Given the description of an element on the screen output the (x, y) to click on. 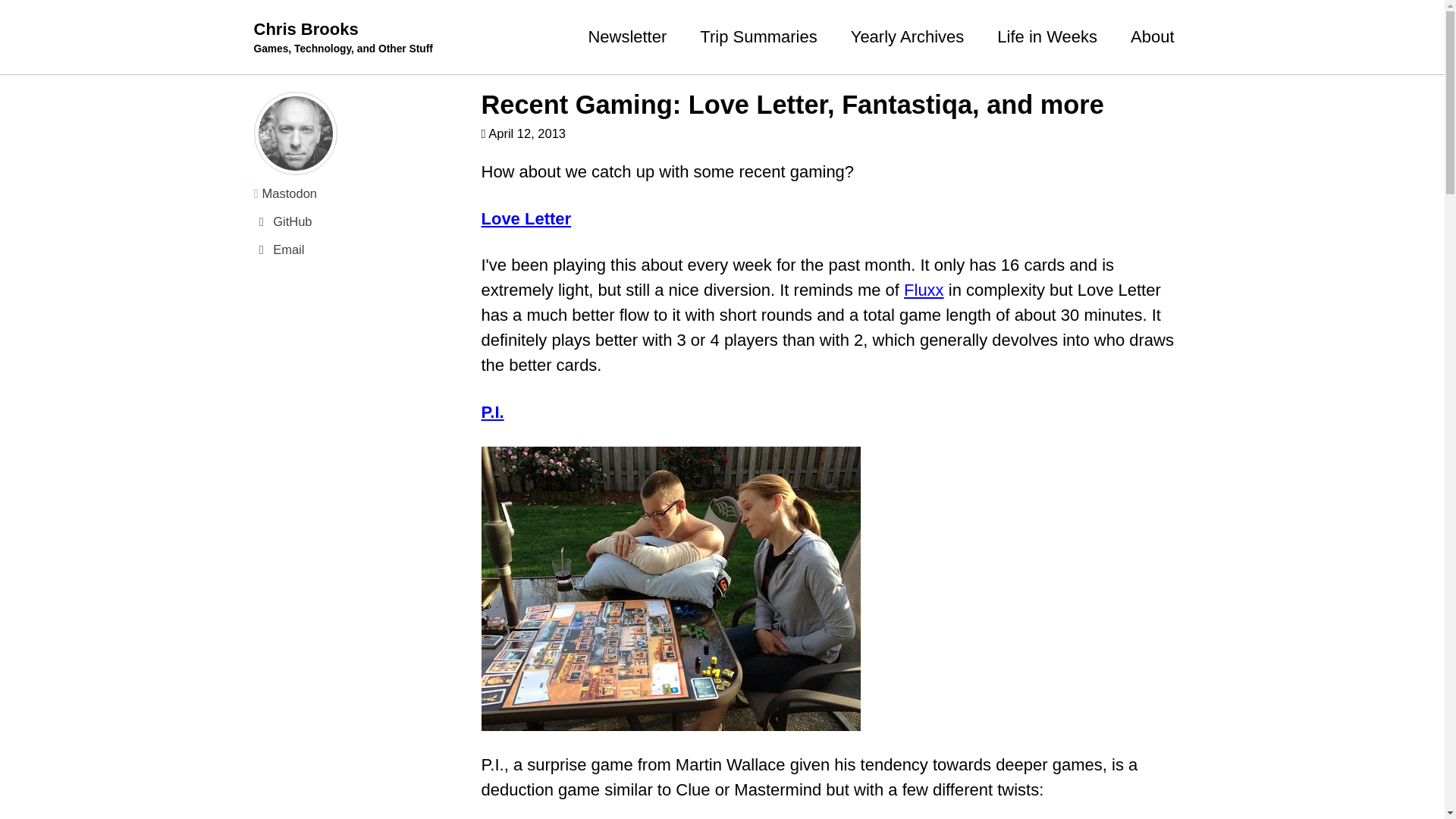
Trip Summaries (758, 36)
Love Letter (525, 218)
Newsletter (627, 36)
Mastodon (358, 193)
P.I. (491, 411)
About (1152, 36)
Fluxx (923, 289)
Email (358, 250)
